Given the description of an element on the screen output the (x, y) to click on. 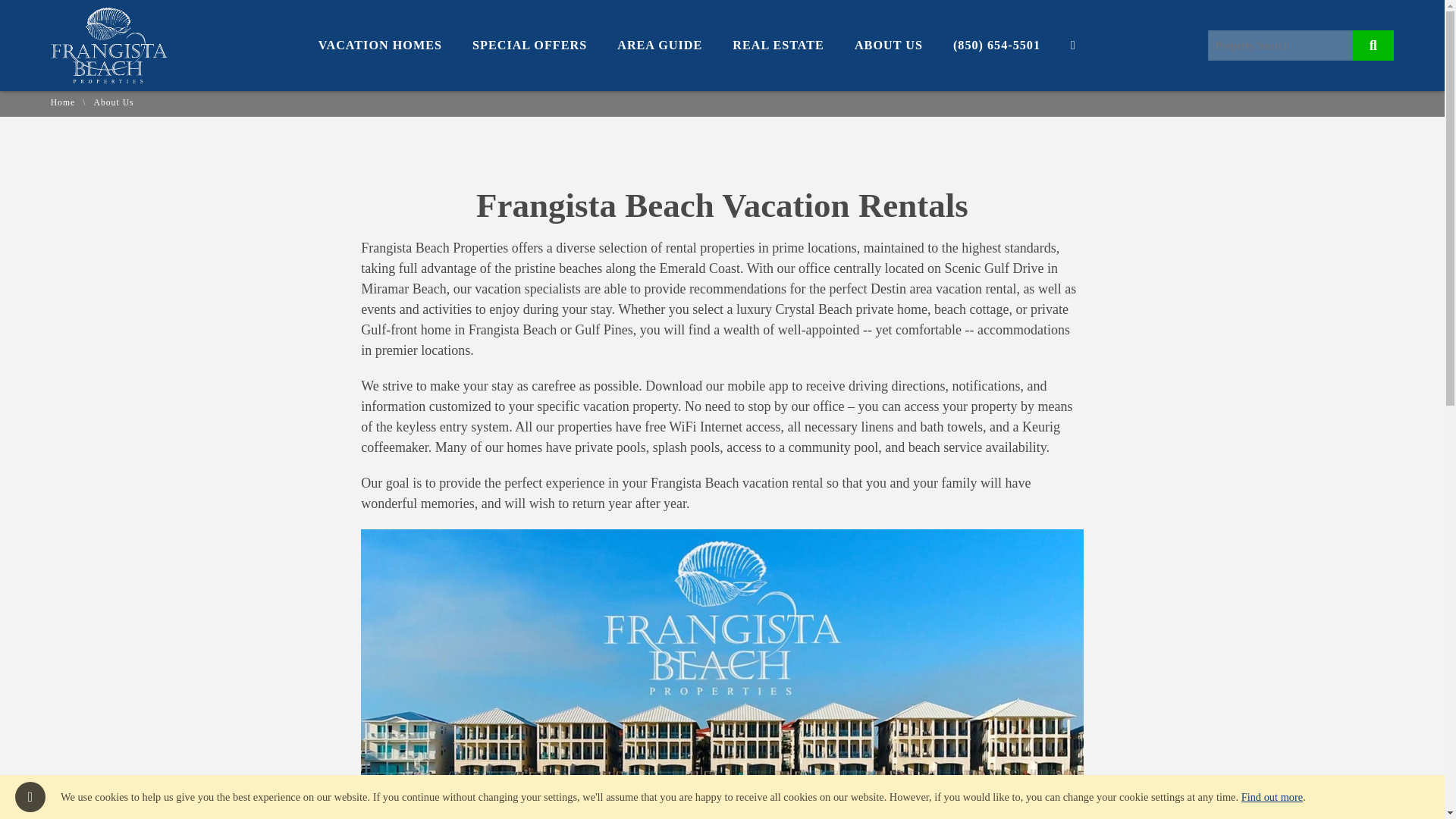
Frangista Beach Properties (108, 45)
REAL ESTATE (778, 45)
Area Guide (659, 45)
ABOUT US (888, 45)
Vacation Homes (380, 45)
SPECIAL OFFERS (528, 45)
VACATION HOMES (380, 45)
Frangista Beach Properties (108, 78)
Home (62, 102)
Special Offers (528, 45)
